Given the description of an element on the screen output the (x, y) to click on. 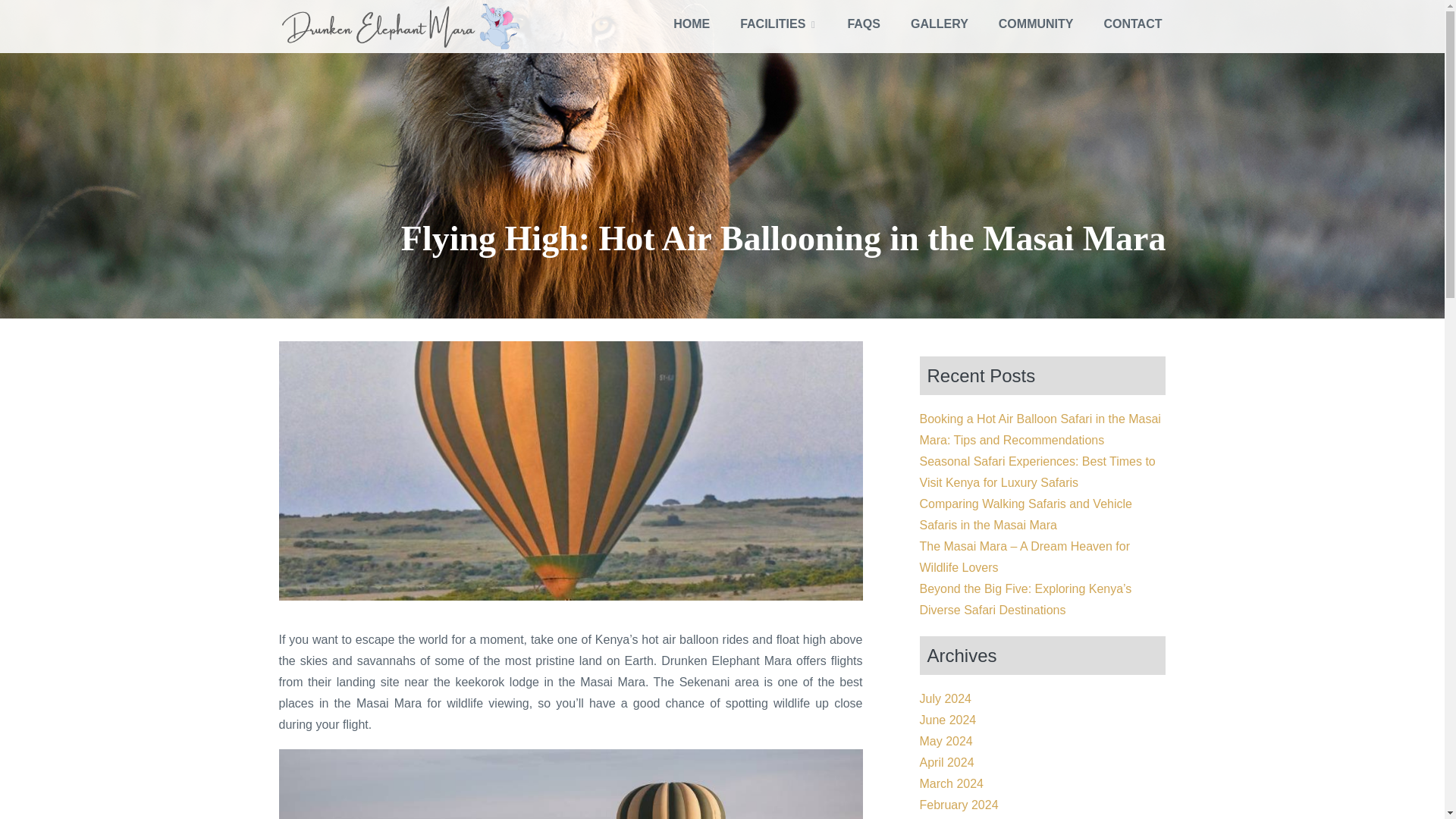
June 2024 (946, 719)
CONTACT (1131, 24)
FACILITIES (778, 24)
HOME (691, 24)
April 2024 (946, 762)
July 2024 (944, 698)
FAQS (863, 24)
March 2024 (951, 783)
February 2024 (957, 804)
COMMUNITY (1036, 24)
May 2024 (945, 740)
GALLERY (939, 24)
